Given the description of an element on the screen output the (x, y) to click on. 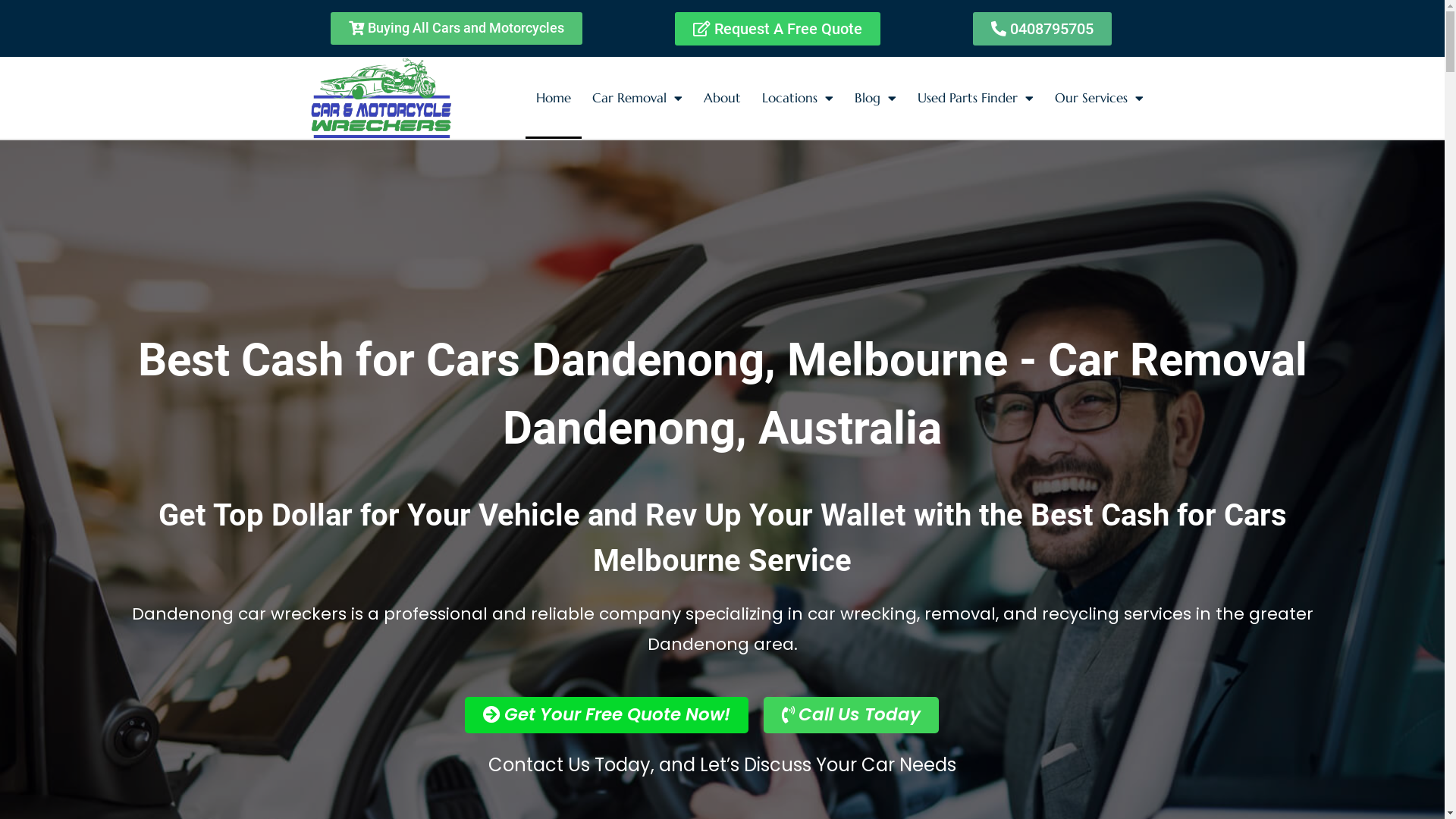
Car Removal Element type: text (637, 97)
Blog Element type: text (875, 97)
Call Us Today Element type: text (850, 714)
Get Your Free Quote Now! Element type: text (606, 714)
Request A Free Quote Element type: text (777, 28)
0408795705 Element type: text (1041, 28)
Locations Element type: text (797, 97)
Home Element type: text (553, 97)
Used Parts Finder Element type: text (975, 97)
About Element type: text (722, 97)
Our Services Element type: text (1099, 97)
Buying All Cars and Motorcycles Element type: text (456, 28)
